Given the description of an element on the screen output the (x, y) to click on. 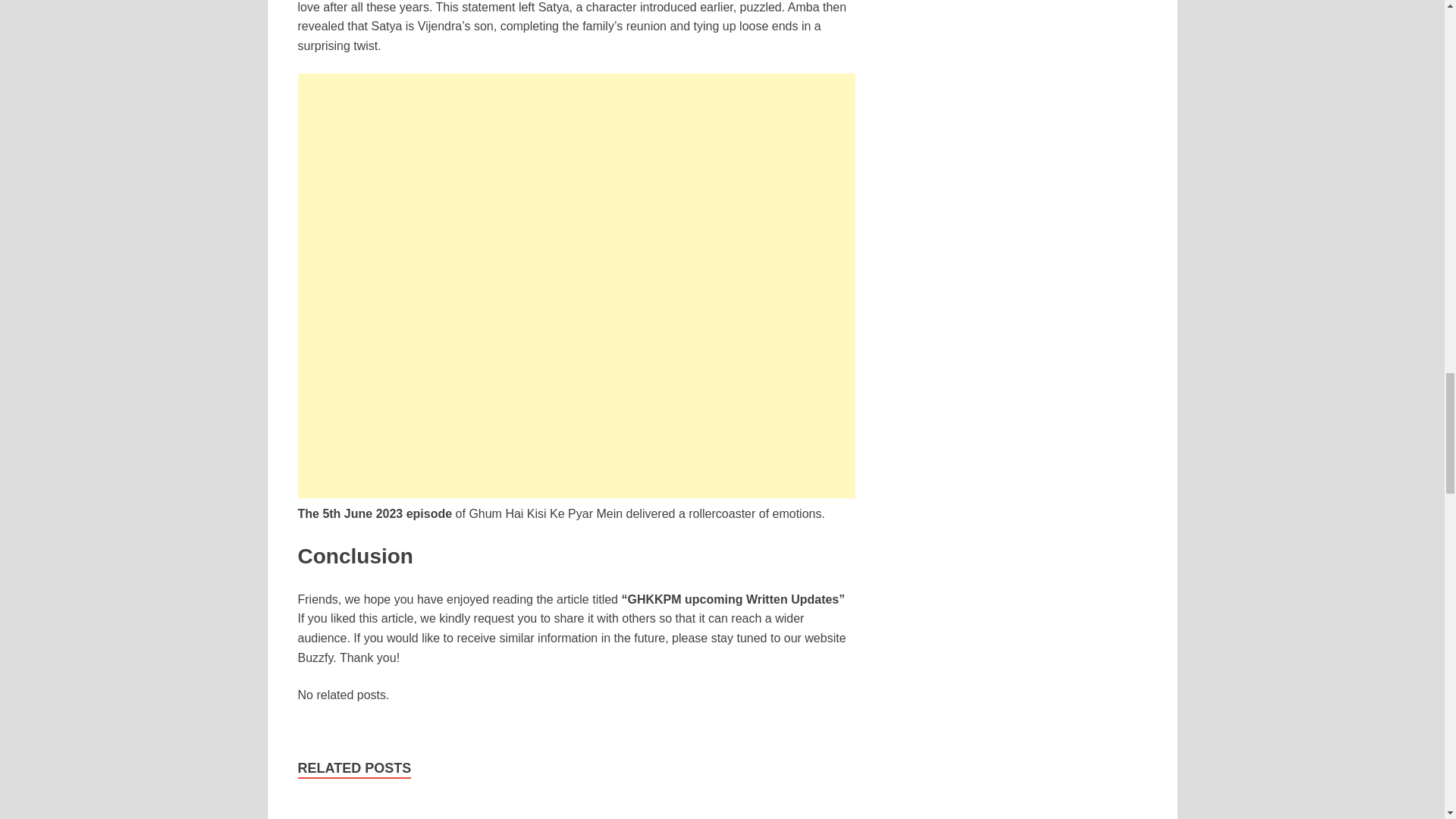
Advertisement (575, 391)
Advertisement (575, 179)
